Given the description of an element on the screen output the (x, y) to click on. 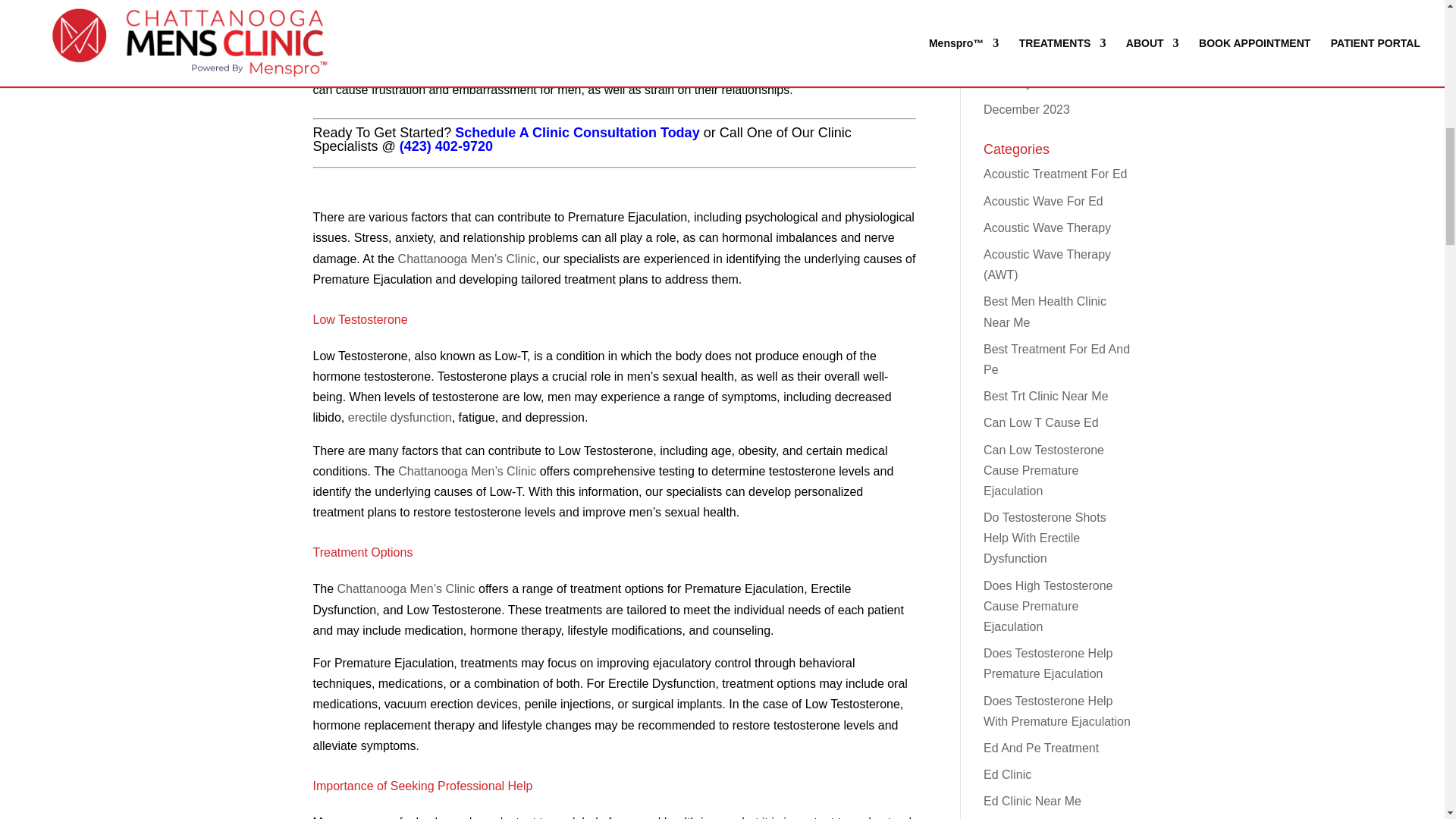
Home Page (406, 588)
Home Page (466, 471)
Home Page (466, 258)
